Given the description of an element on the screen output the (x, y) to click on. 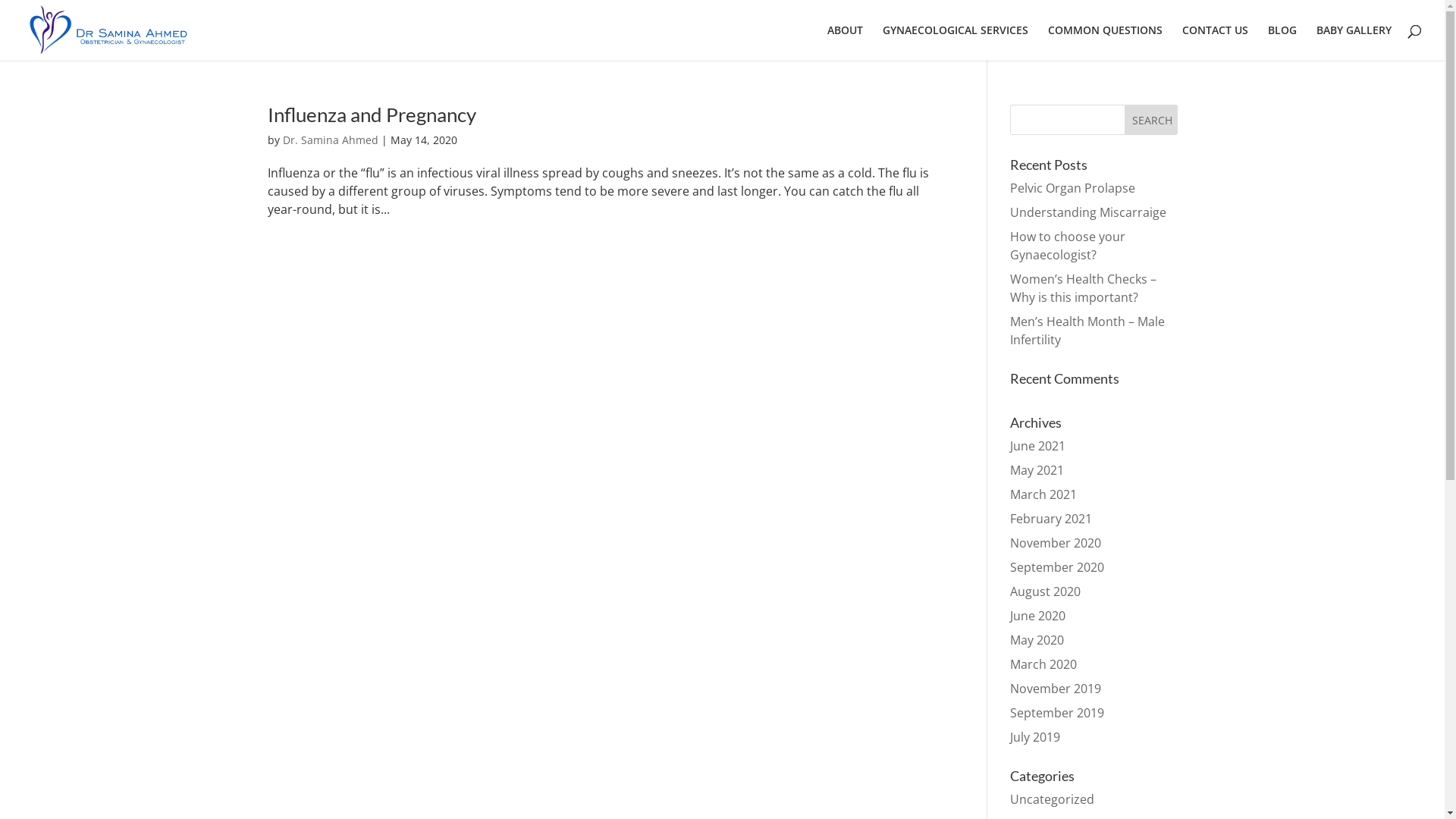
June 2020 Element type: text (1037, 615)
Understanding Miscarraige Element type: text (1088, 211)
BABY GALLERY Element type: text (1353, 42)
May 2021 Element type: text (1036, 469)
How to choose your Gynaecologist? Element type: text (1067, 245)
Dr. Samina Ahmed Element type: text (329, 139)
February 2021 Element type: text (1051, 518)
Uncategorized Element type: text (1052, 798)
November 2019 Element type: text (1055, 688)
September 2020 Element type: text (1057, 566)
ABOUT Element type: text (844, 42)
June 2021 Element type: text (1037, 445)
Pelvic Organ Prolapse Element type: text (1072, 187)
March 2020 Element type: text (1043, 663)
September 2019 Element type: text (1057, 712)
Influenza and Pregnancy Element type: text (370, 114)
BLOG Element type: text (1281, 42)
November 2020 Element type: text (1055, 542)
July 2019 Element type: text (1035, 736)
CONTACT US Element type: text (1215, 42)
August 2020 Element type: text (1045, 591)
Search Element type: text (1149, 119)
May 2020 Element type: text (1036, 639)
GYNAECOLOGICAL SERVICES Element type: text (955, 42)
March 2021 Element type: text (1043, 494)
COMMON QUESTIONS Element type: text (1105, 42)
